Given the description of an element on the screen output the (x, y) to click on. 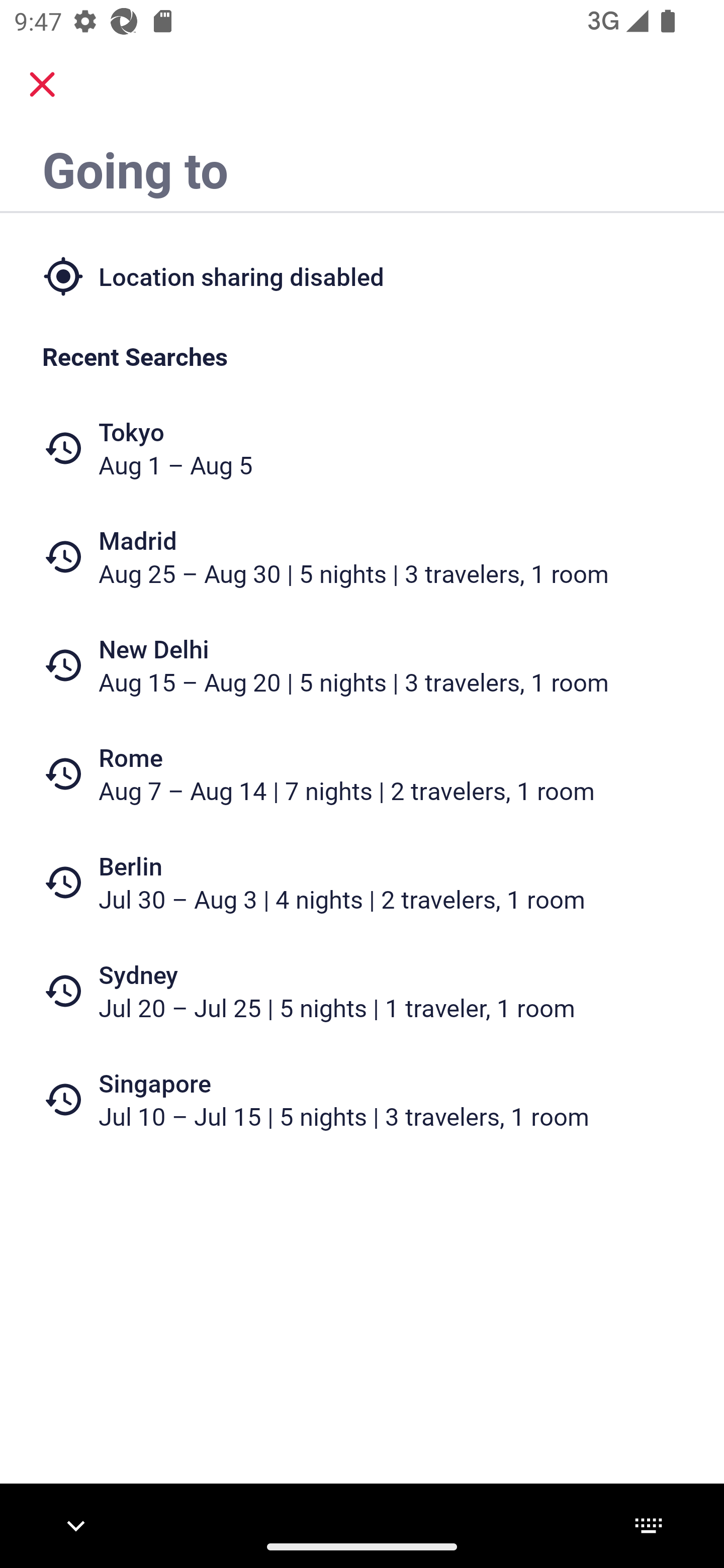
close. (42, 84)
Location sharing disabled (362, 275)
Tokyo Aug 1 – Aug 5 (362, 448)
